Given the description of an element on the screen output the (x, y) to click on. 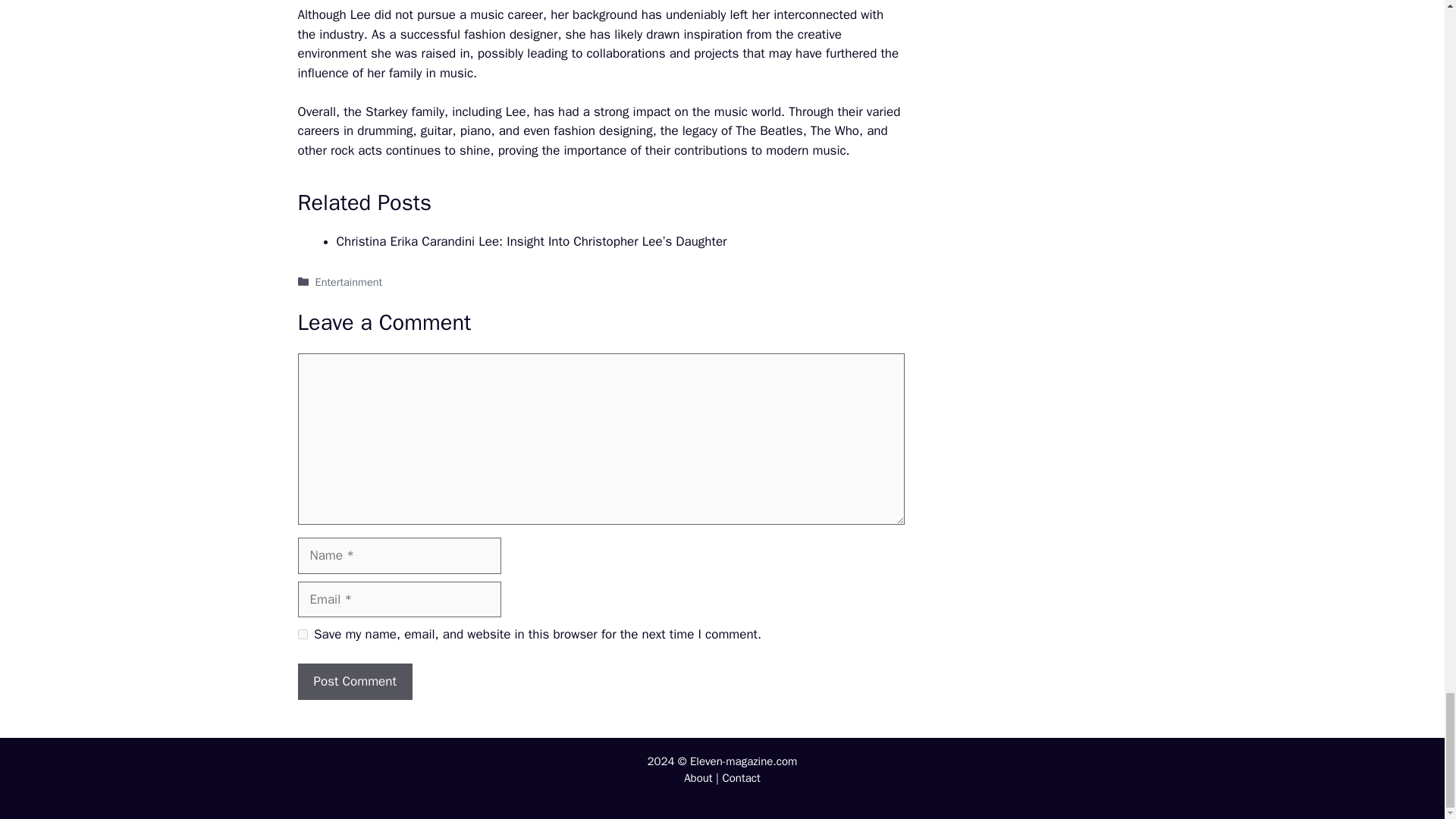
Contact (741, 777)
Entertainment (348, 282)
yes (302, 634)
Post Comment (354, 681)
Post Comment (354, 681)
About (697, 777)
